Given the description of an element on the screen output the (x, y) to click on. 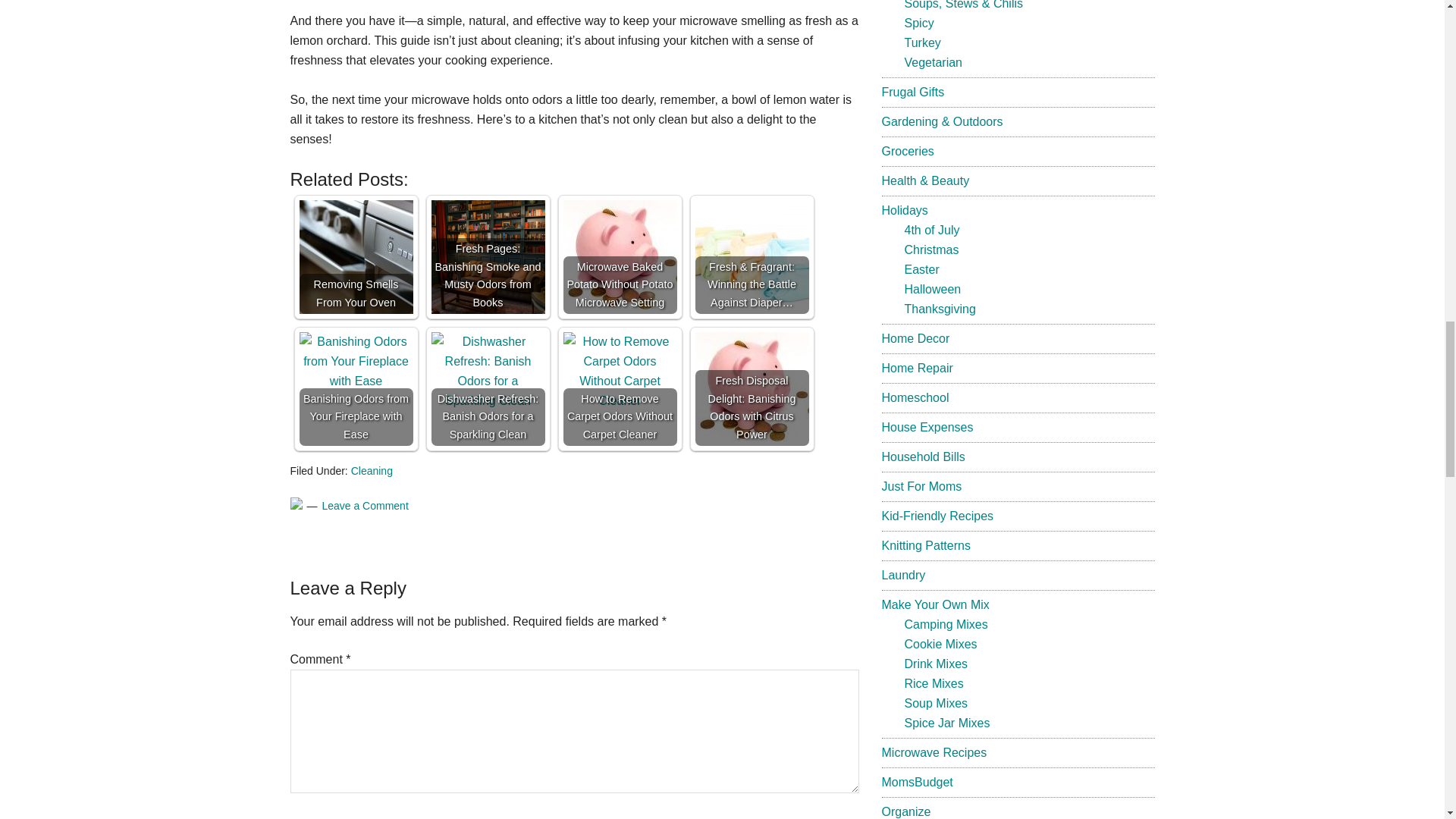
Dishwasher Refresh: Banish Odors for a Sparkling Clean (487, 388)
Removing Smells From Your Oven (355, 256)
Leave a Comment (364, 505)
Fresh Disposal Delight: Banishing Odors with Citrus Power (751, 388)
Microwave Baked Potato Without Potato Microwave Setting (619, 256)
Banishing Odors from Your Fireplace with Ease (355, 361)
Removing Smells From Your Oven (355, 256)
Fresh Disposal Delight: Banishing Odors with Citrus Power (751, 388)
How to Remove Carpet Odors Without Carpet Cleaner (619, 388)
How to Remove Carpet Odors Without Carpet Cleaner (619, 371)
